Given the description of an element on the screen output the (x, y) to click on. 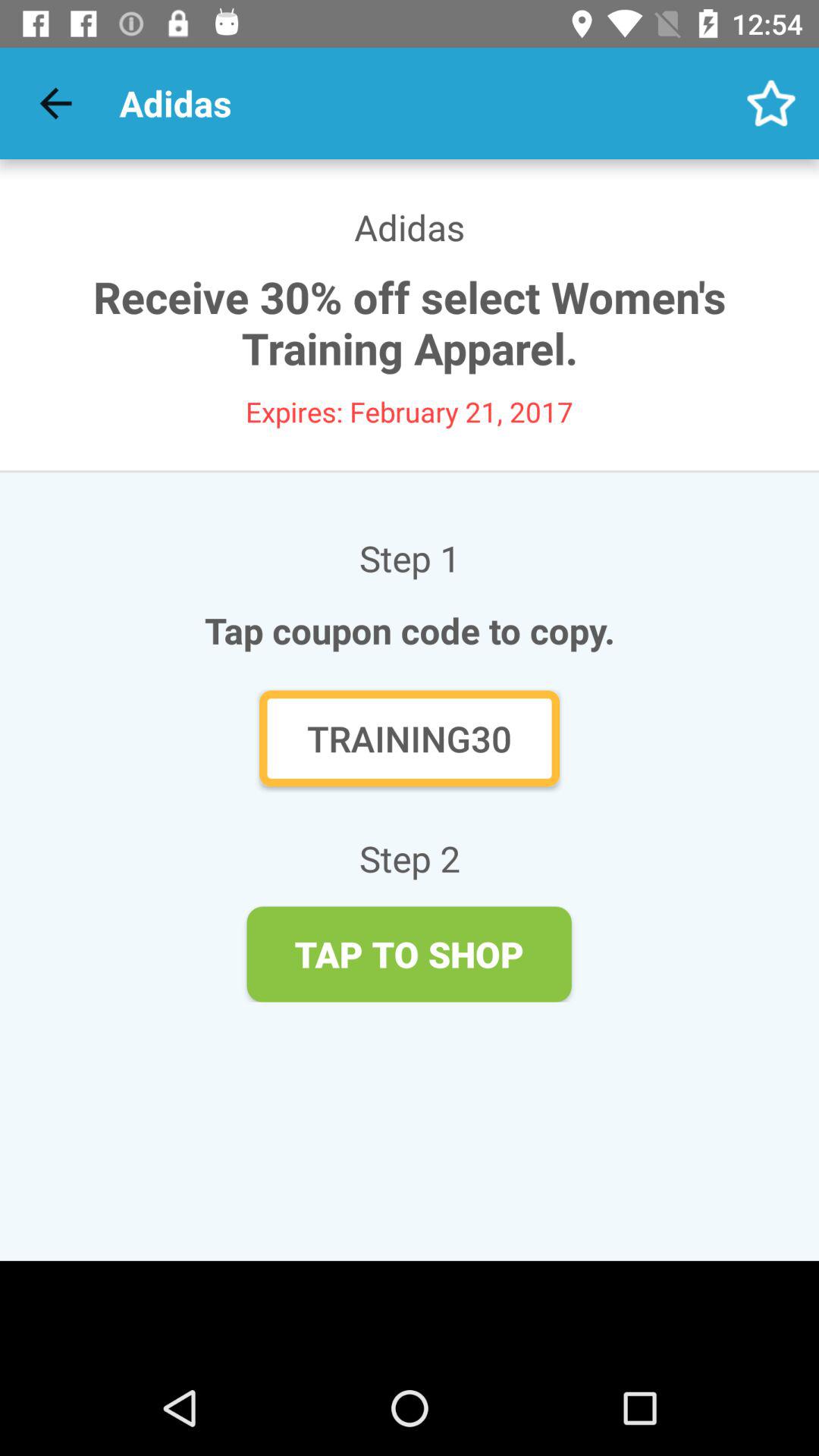
tap icon next to adidas icon (771, 103)
